Given the description of an element on the screen output the (x, y) to click on. 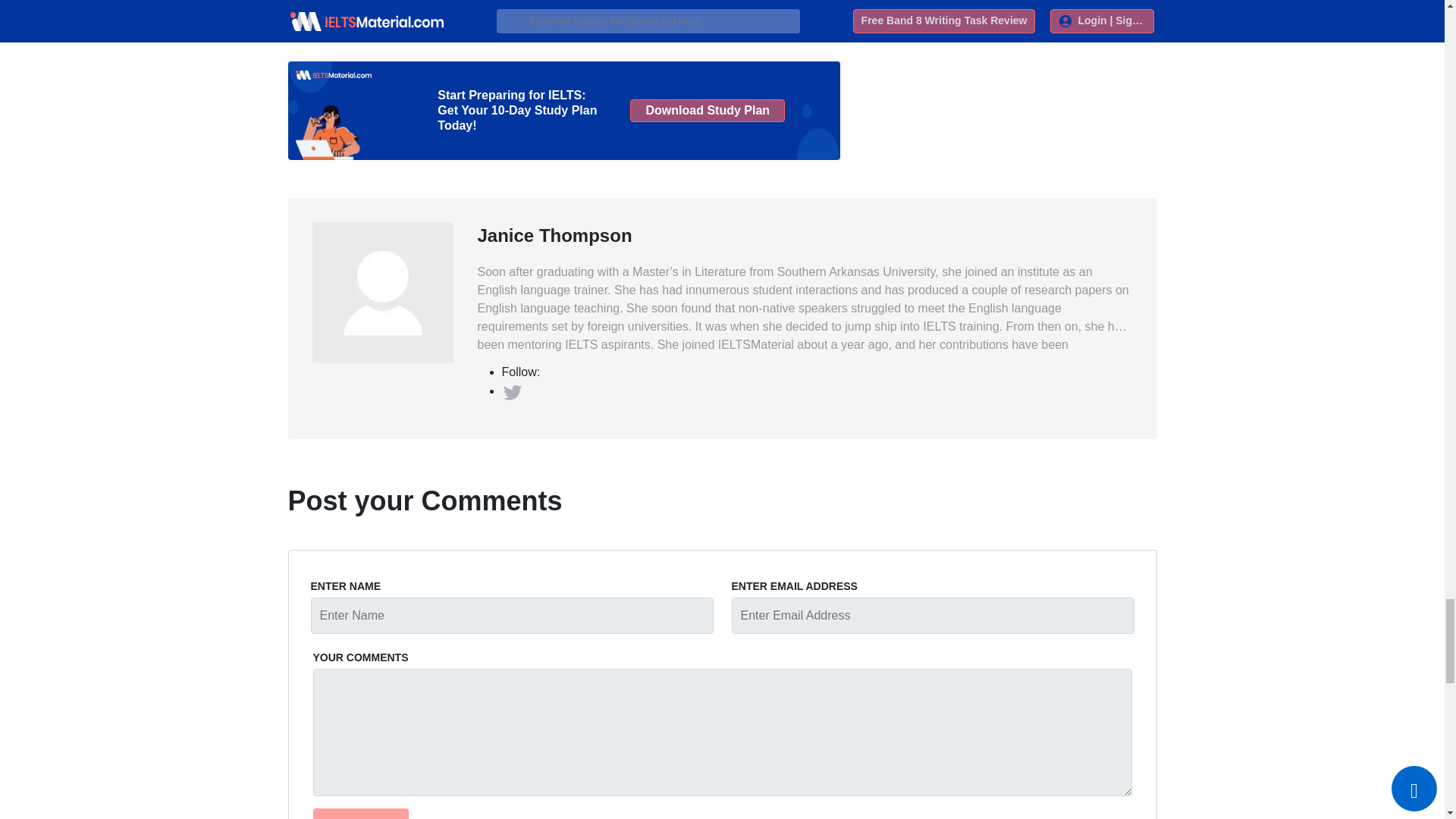
OET Exam Booking (425, 19)
OET Exam Fees (722, 19)
Download Study Plan (707, 110)
